Given the description of an element on the screen output the (x, y) to click on. 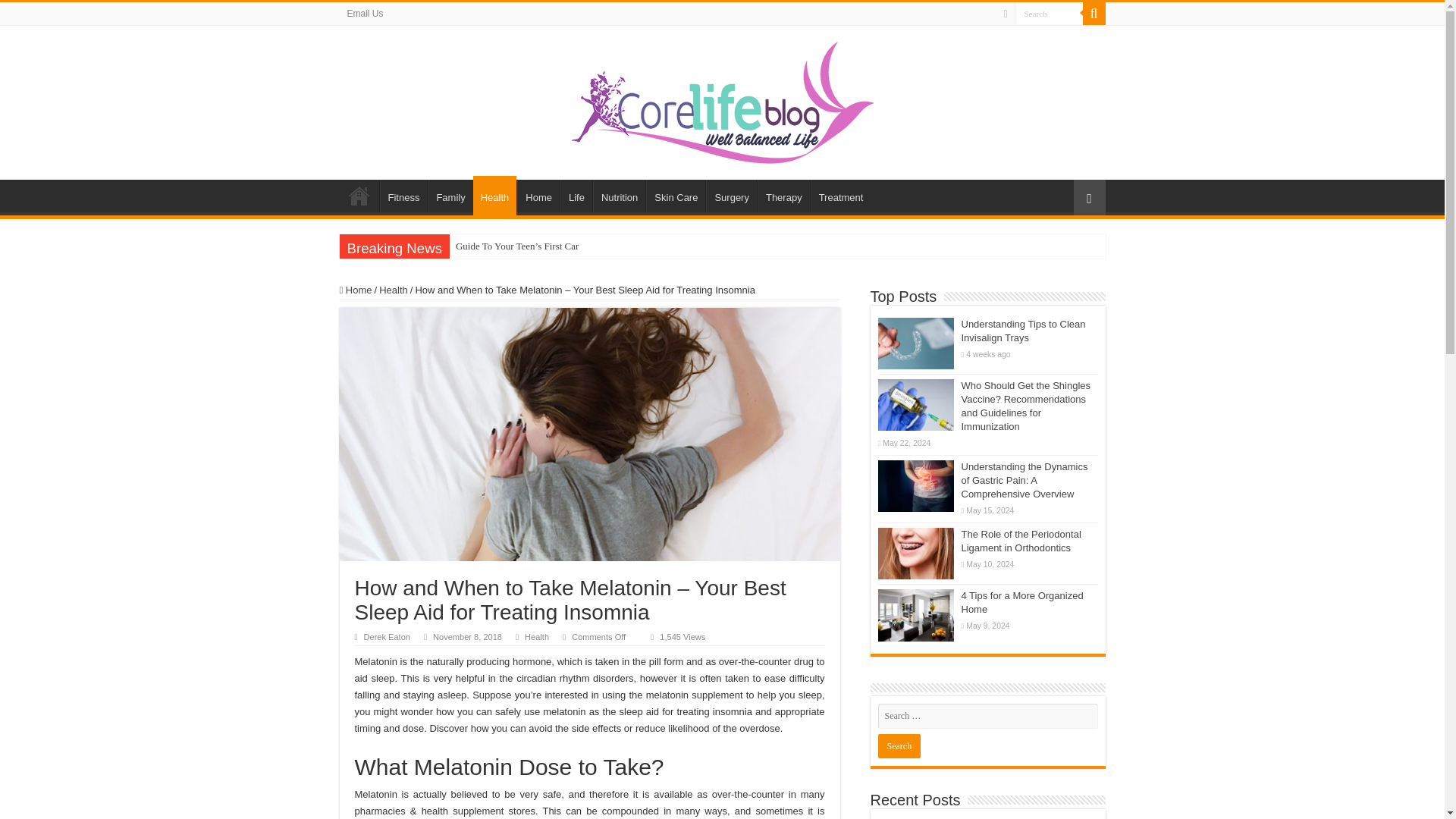
Search (899, 745)
Surgery (731, 195)
Treatment (840, 195)
Home (358, 195)
Search (1048, 13)
Life (576, 195)
Search (899, 745)
Search (1094, 13)
Skin Care (675, 195)
Fitness (402, 195)
Home (537, 195)
Search (1048, 13)
Nutrition (618, 195)
Family (449, 195)
Therapy (783, 195)
